Given the description of an element on the screen output the (x, y) to click on. 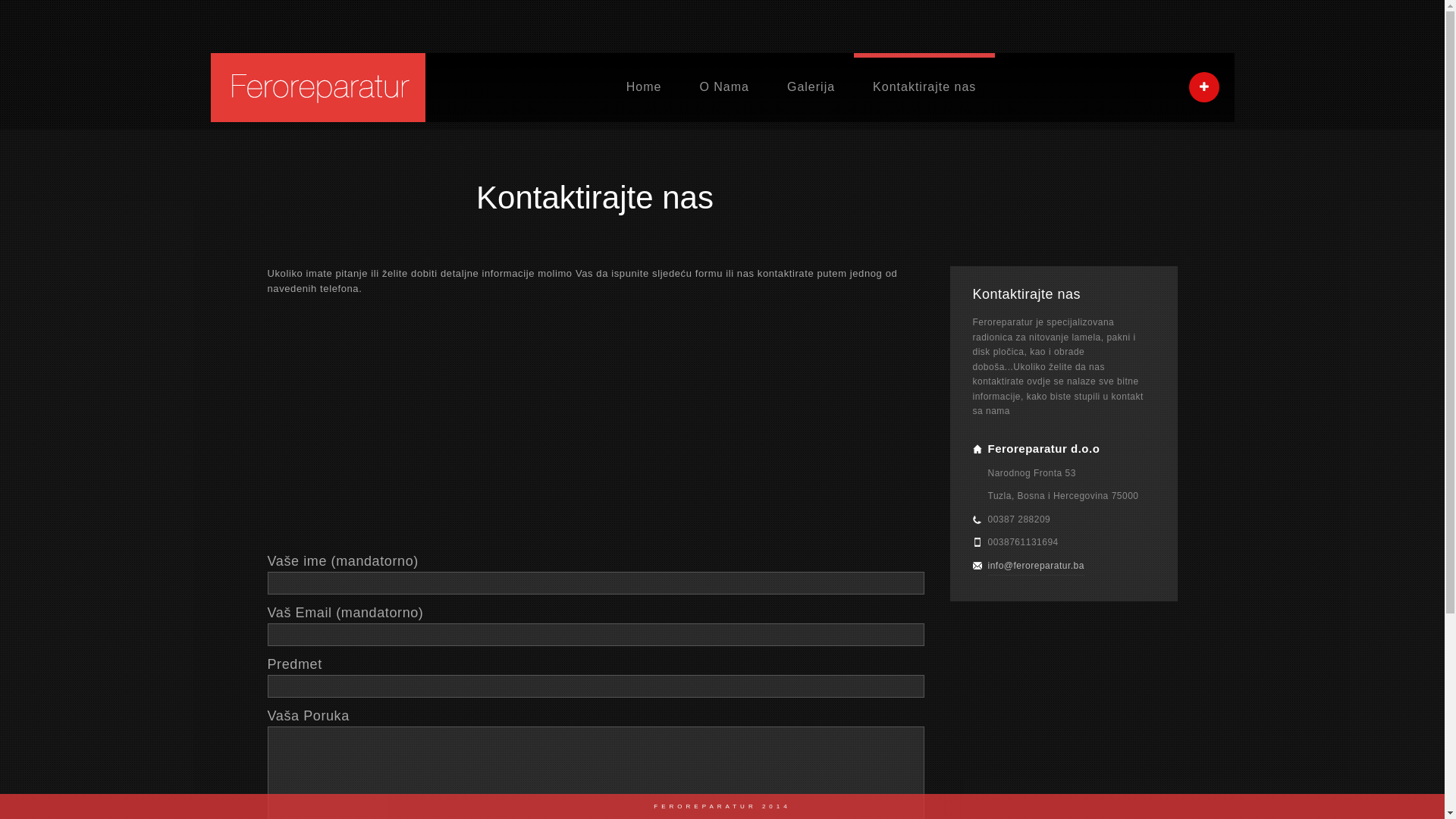
O Nama Element type: text (724, 87)
info@feroreparatur.ba Element type: text (1035, 565)
Galerija Element type: text (810, 87)
Kontaktirajte nas Element type: text (923, 87)
Home Element type: text (643, 87)
